Given the description of an element on the screen output the (x, y) to click on. 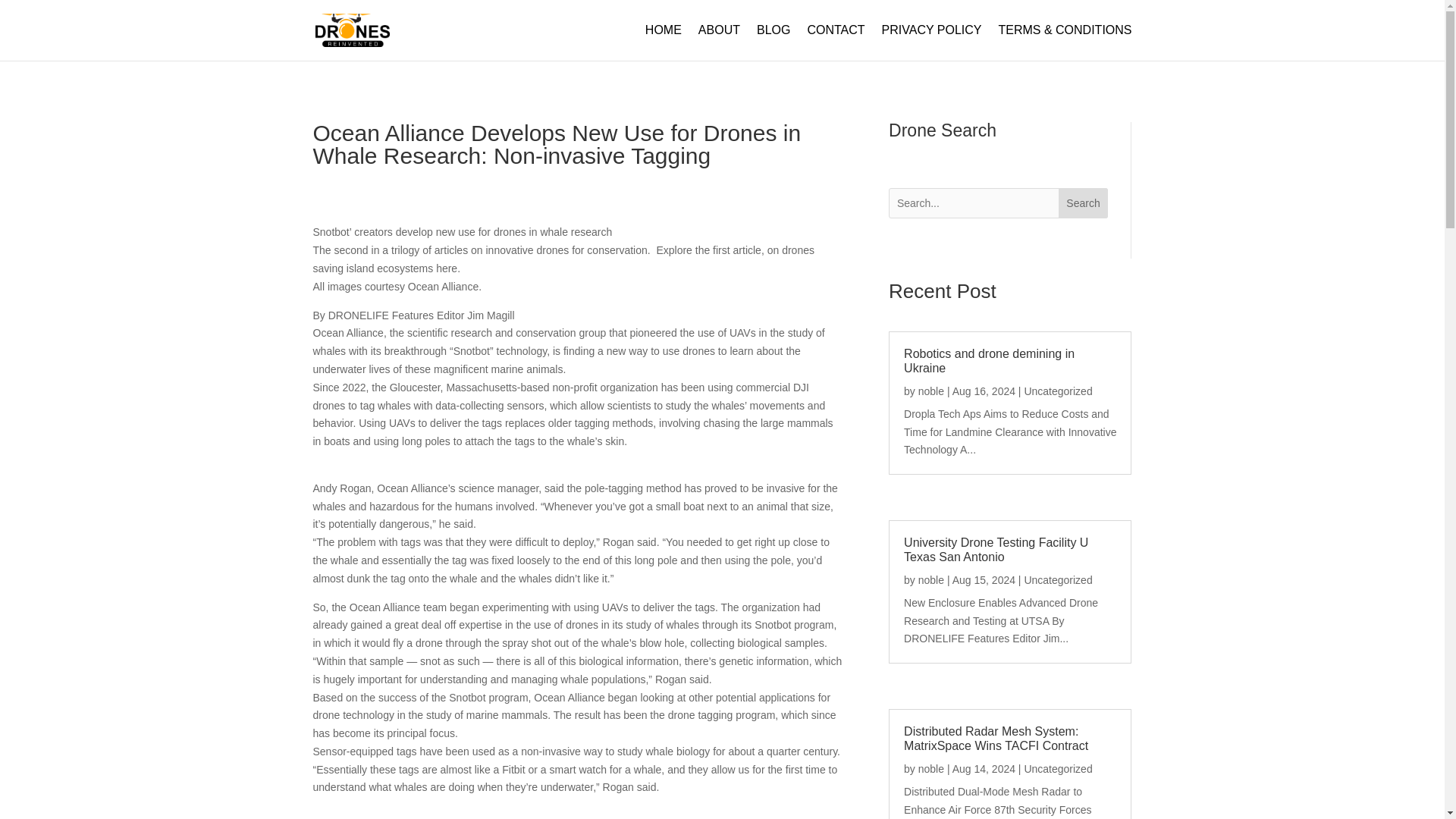
ABOUT (718, 42)
Robotics and drone demining in Ukraine (989, 360)
Posts by noble (930, 390)
noble (930, 580)
Advertisement (578, 813)
noble (930, 768)
noble (930, 390)
University Drone Testing Facility U Texas San Antonio (995, 549)
Search (1083, 203)
